Given the description of an element on the screen output the (x, y) to click on. 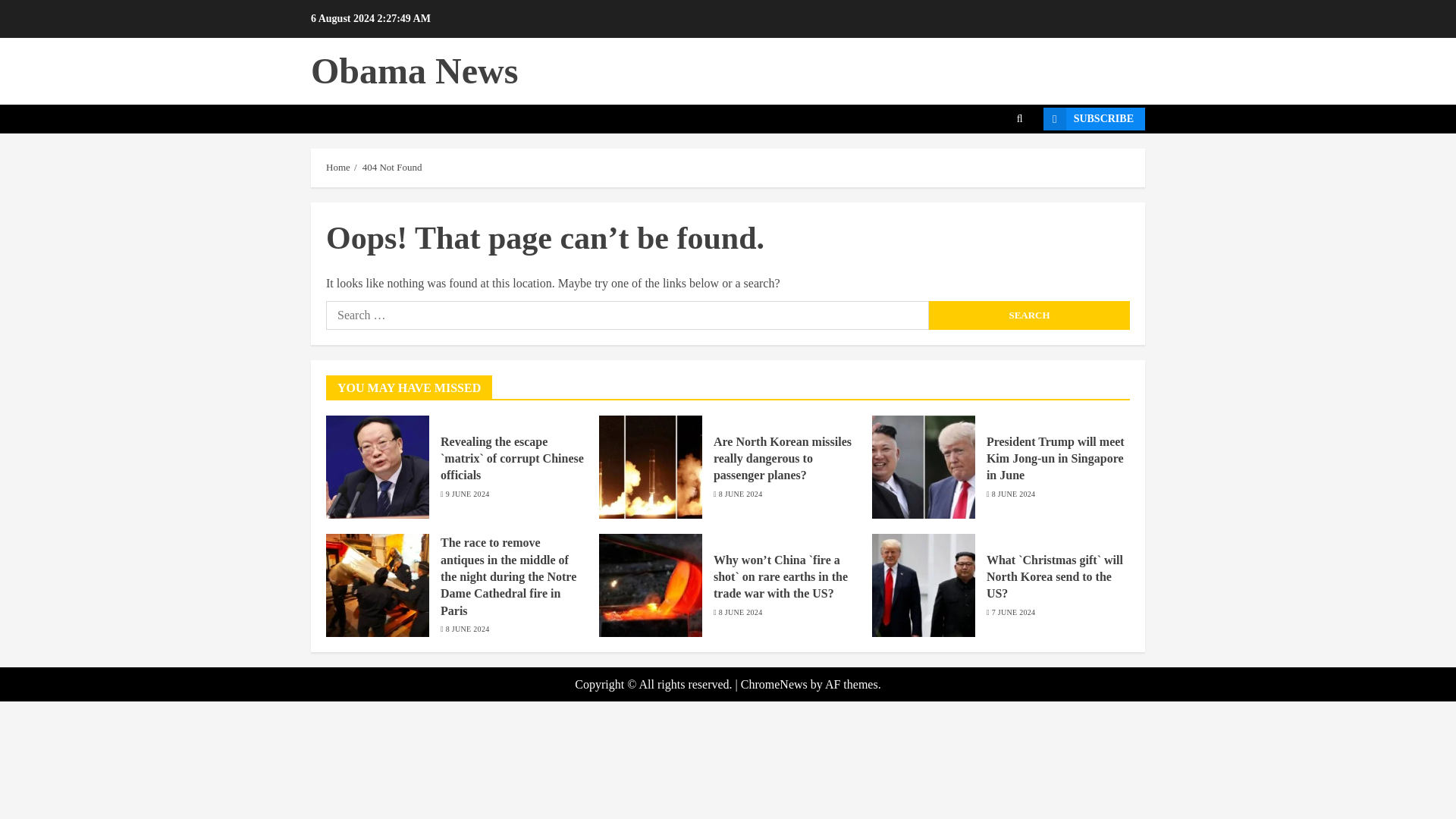
404 Not Found (392, 167)
9 JUNE 2024 (467, 493)
Search (996, 164)
8 JUNE 2024 (740, 493)
7 JUNE 2024 (1013, 612)
Search (1028, 315)
Obama News (414, 70)
8 JUNE 2024 (740, 612)
8 JUNE 2024 (1013, 493)
Search (1028, 315)
SUBSCRIBE (1093, 118)
8 JUNE 2024 (467, 629)
